Given the description of an element on the screen output the (x, y) to click on. 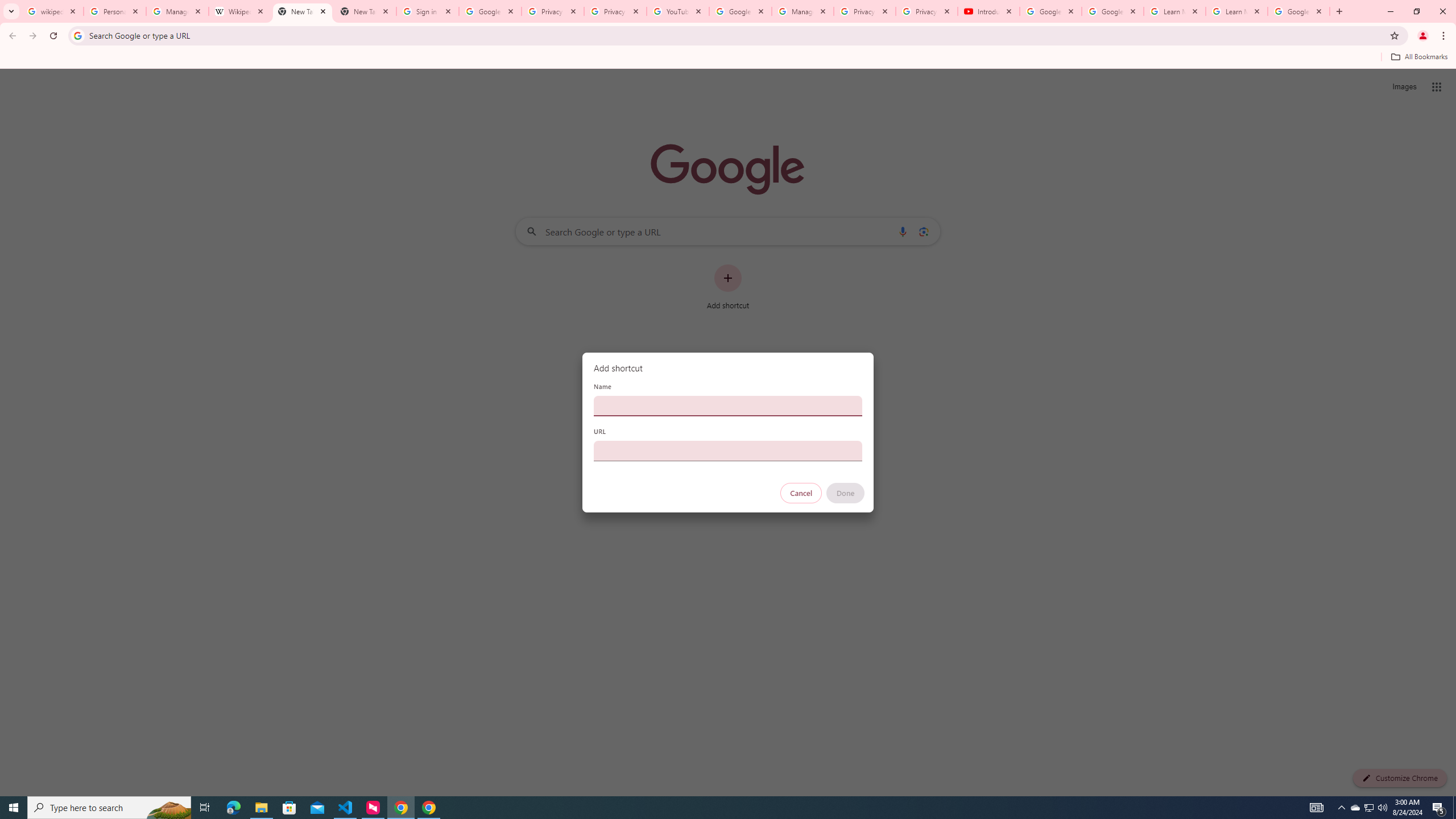
YouTube (678, 11)
Google Drive: Sign-in (490, 11)
Google Account Help (1111, 11)
Introduction | Google Privacy Policy - YouTube (988, 11)
Wikipedia:Edit requests - Wikipedia (239, 11)
Google Account Help (1050, 11)
All Bookmarks (1418, 56)
New Tab (365, 11)
Search icon (77, 35)
